Given the description of an element on the screen output the (x, y) to click on. 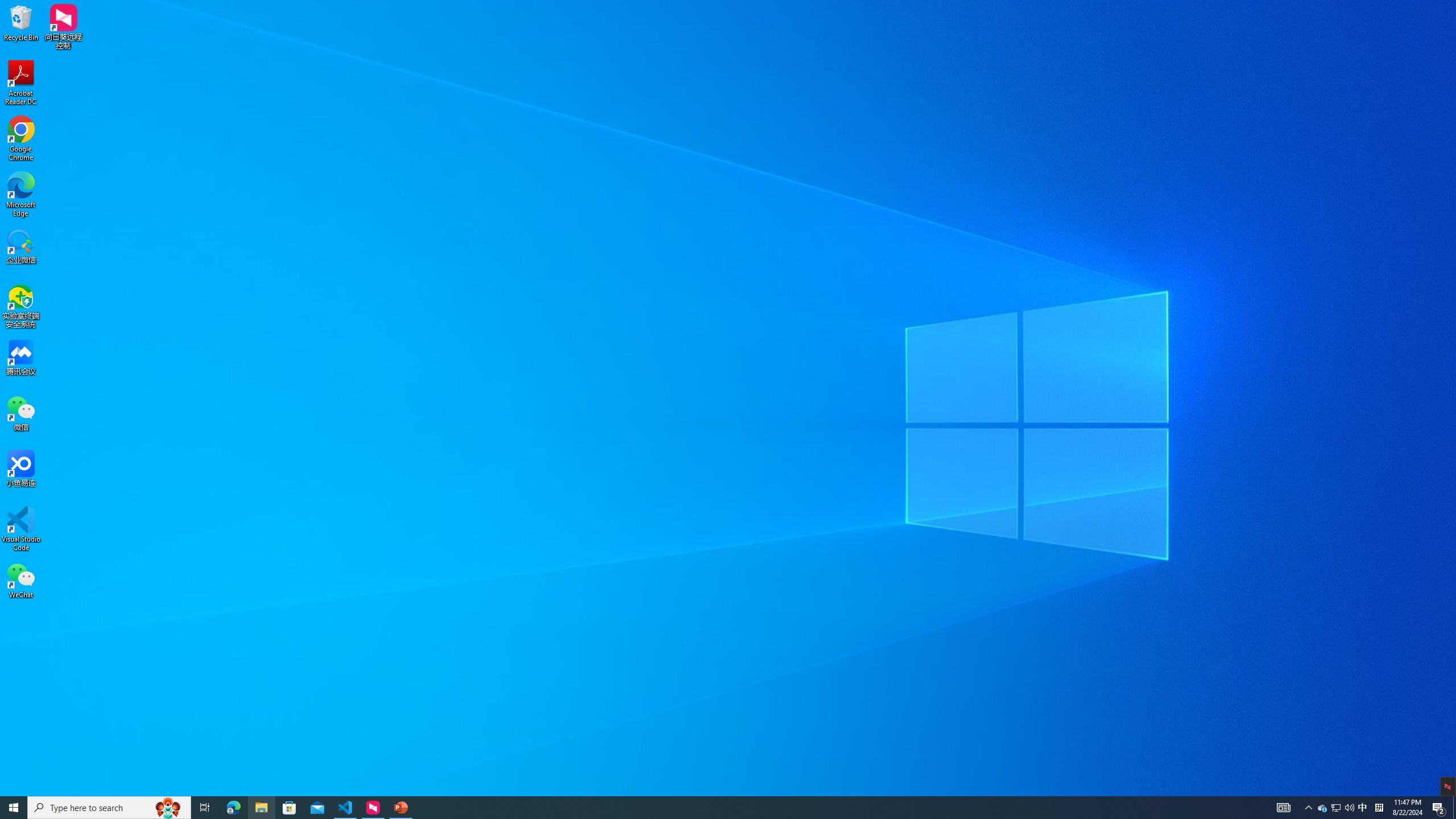
Microsoft Edge (233, 807)
Bold (182, 67)
Design Idea (1366, 743)
